Given the description of an element on the screen output the (x, y) to click on. 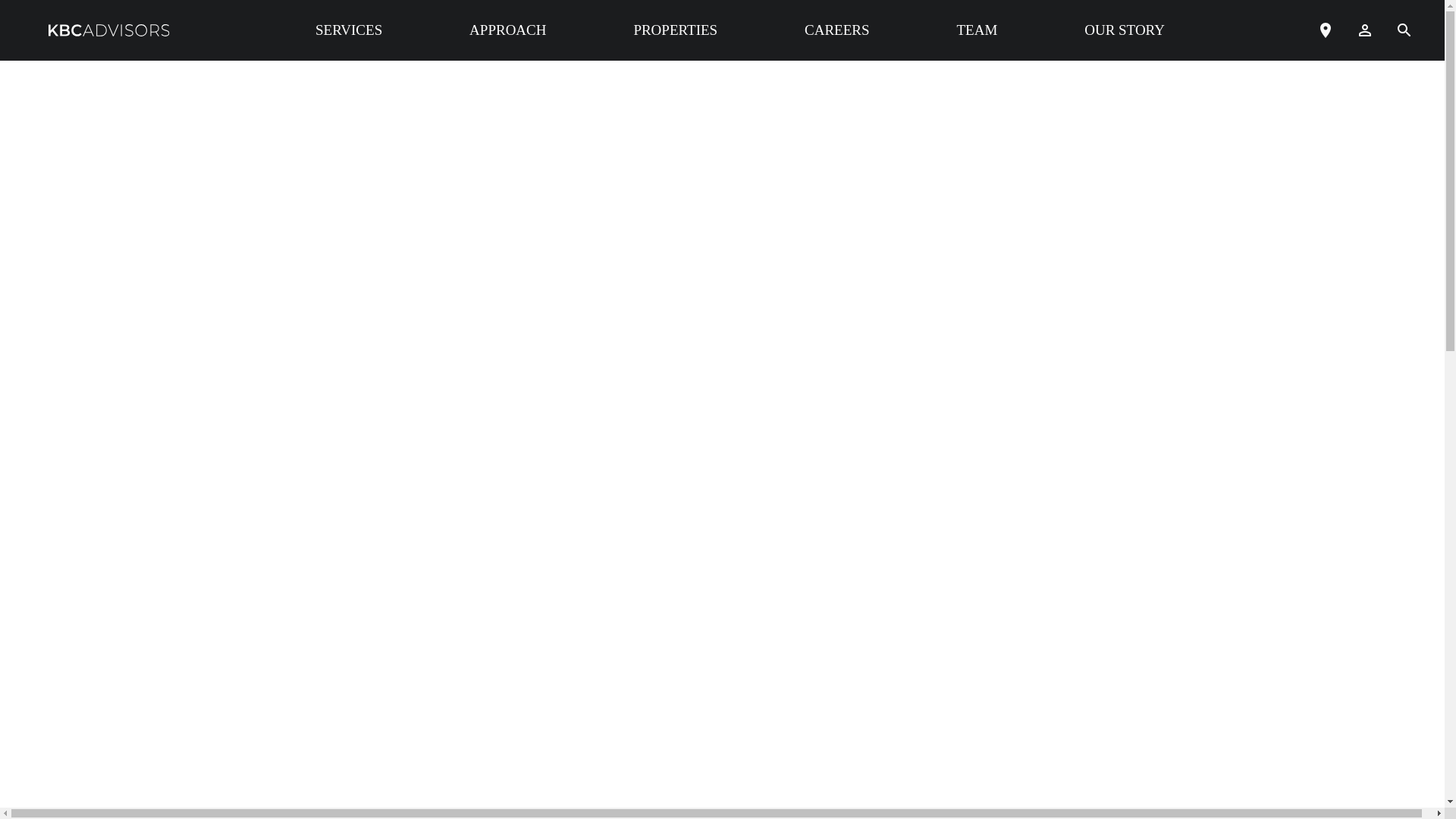
PROPERTIES (675, 30)
OUR STORY (1124, 30)
CAREERS (837, 30)
SERVICES (348, 30)
APPROACH (507, 30)
